Given the description of an element on the screen output the (x, y) to click on. 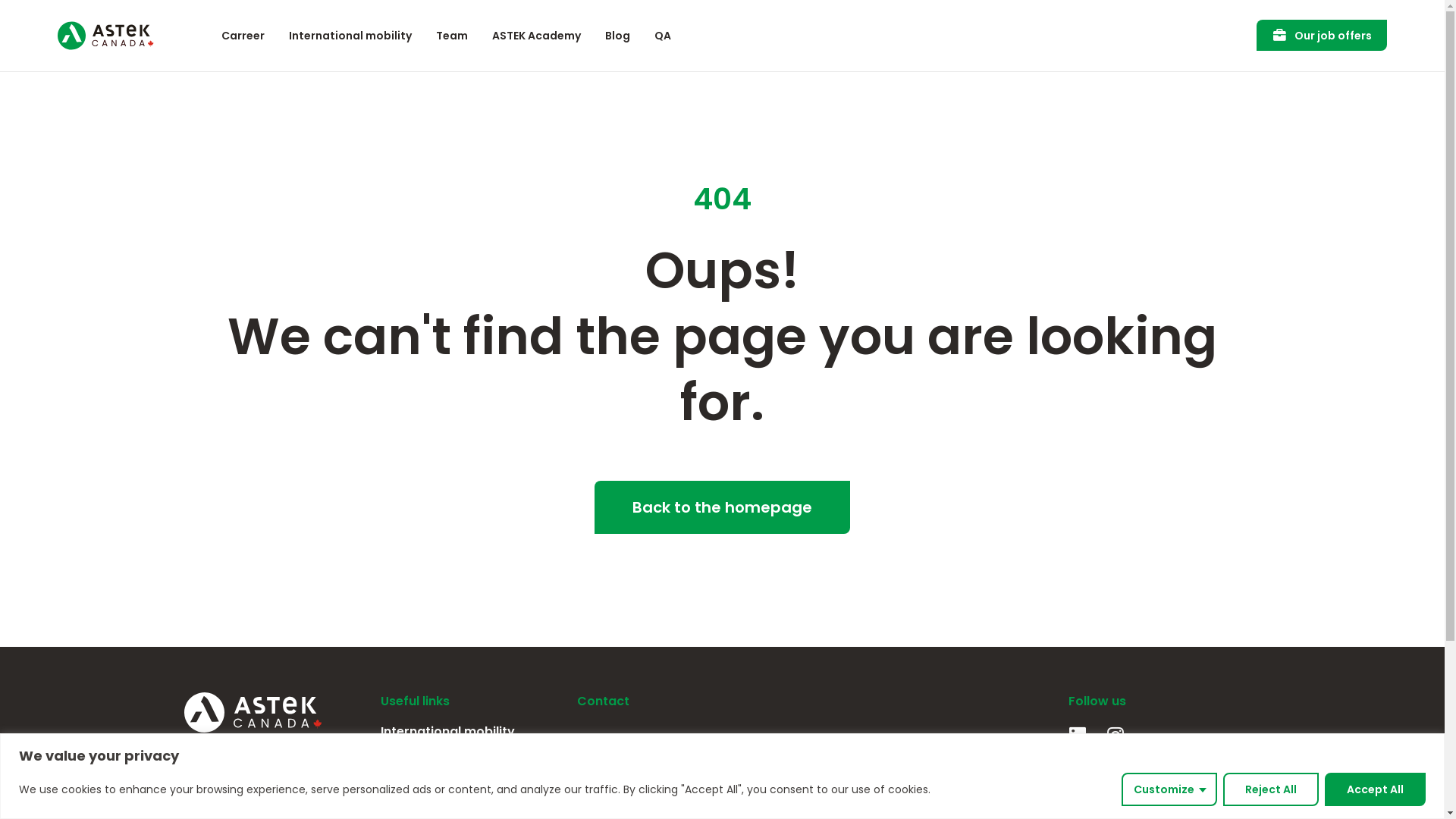
180 John Street, M5T 1X5, Toronto, Ontario Element type: text (942, 769)
QA Element type: text (662, 35)
+1 (514) 494-3262 Element type: text (687, 796)
Carreer Element type: text (242, 35)
toronto-logo-footer Element type: hover (838, 749)
Reject All Element type: text (1270, 788)
Our job offers Element type: text (1321, 34)
Accept All Element type: text (1374, 788)
International mobility Element type: text (470, 731)
International mobility Element type: text (349, 35)
Blog Element type: text (617, 35)
Team Element type: text (451, 35)
Back to the homepage Element type: text (722, 506)
ASTEK Academy Element type: text (470, 786)
Team Element type: text (470, 758)
+1 (416) 540-9553 Element type: text (924, 796)
ASTEK Academy Element type: text (536, 35)
Customize Element type: text (1169, 788)
montreal-logo-footer Element type: hover (600, 749)
